Given the description of an element on the screen output the (x, y) to click on. 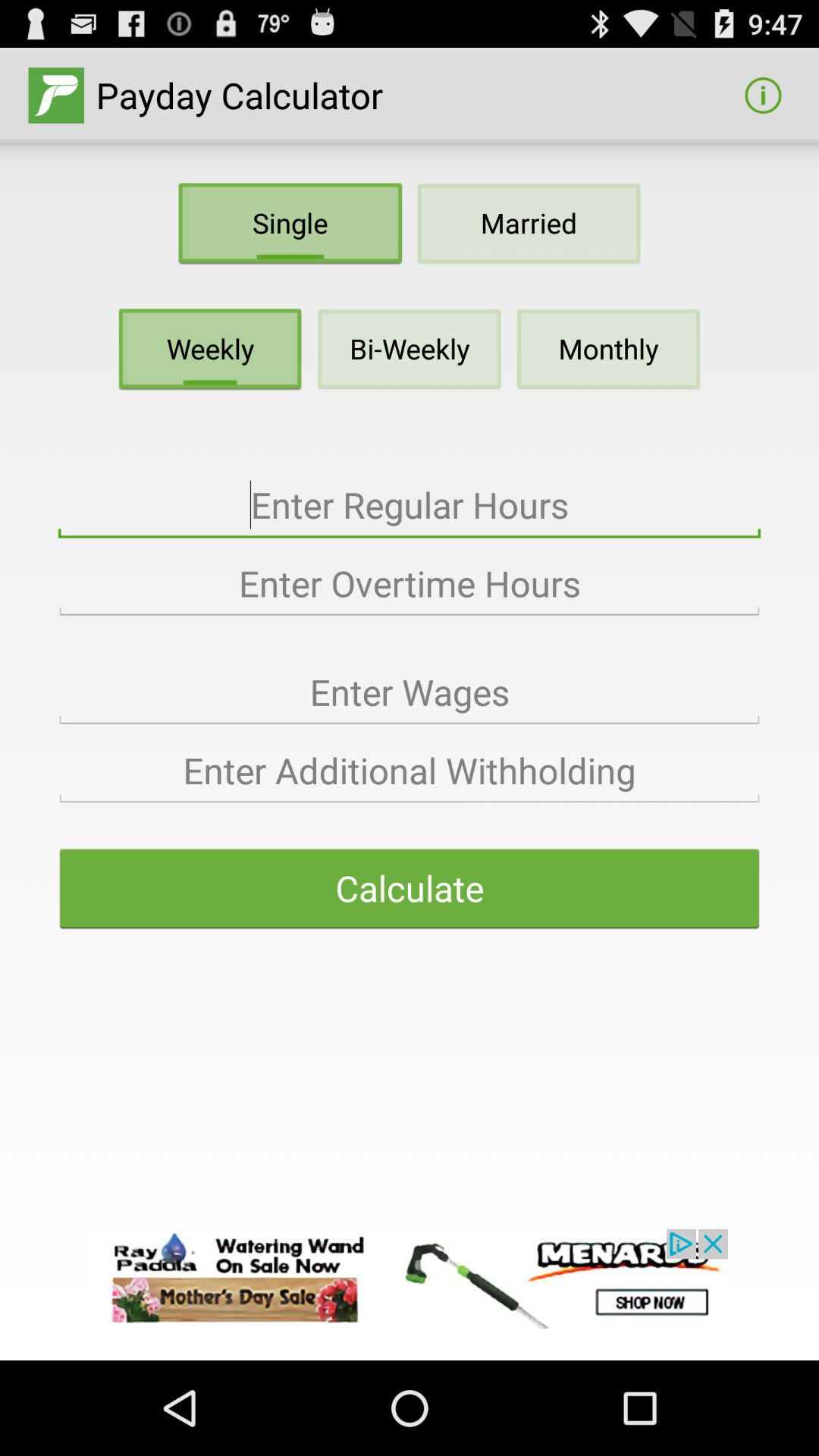
to buy things (409, 1278)
